Given the description of an element on the screen output the (x, y) to click on. 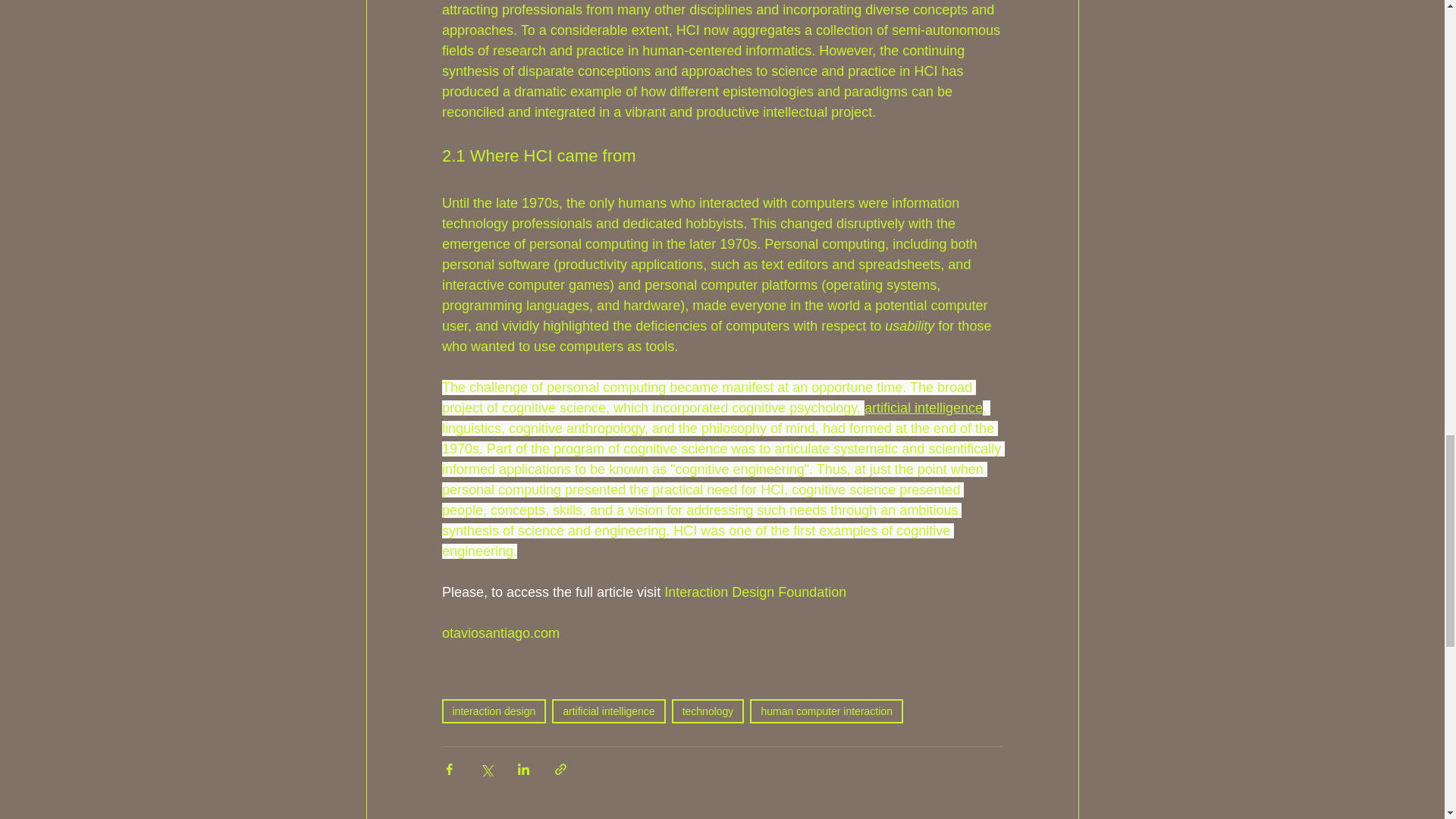
technology (707, 711)
artificial intelligence (922, 407)
artificial intelligence (608, 711)
Interaction Design Foundation (754, 591)
interaction design (493, 711)
otaviosantiago.com (500, 632)
human computer interaction (825, 711)
